Given the description of an element on the screen output the (x, y) to click on. 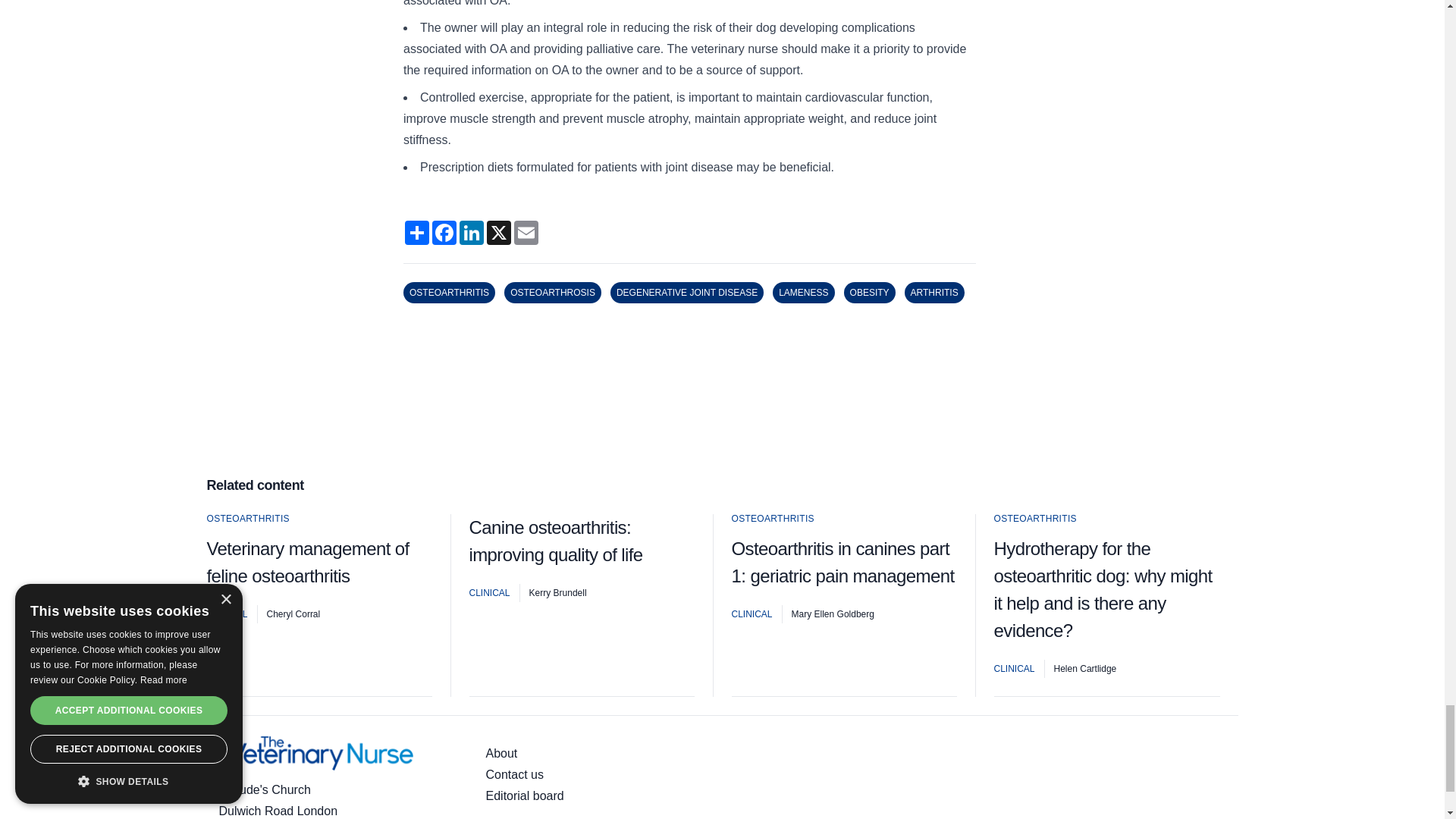
3rd party ad content (721, 404)
